Given the description of an element on the screen output the (x, y) to click on. 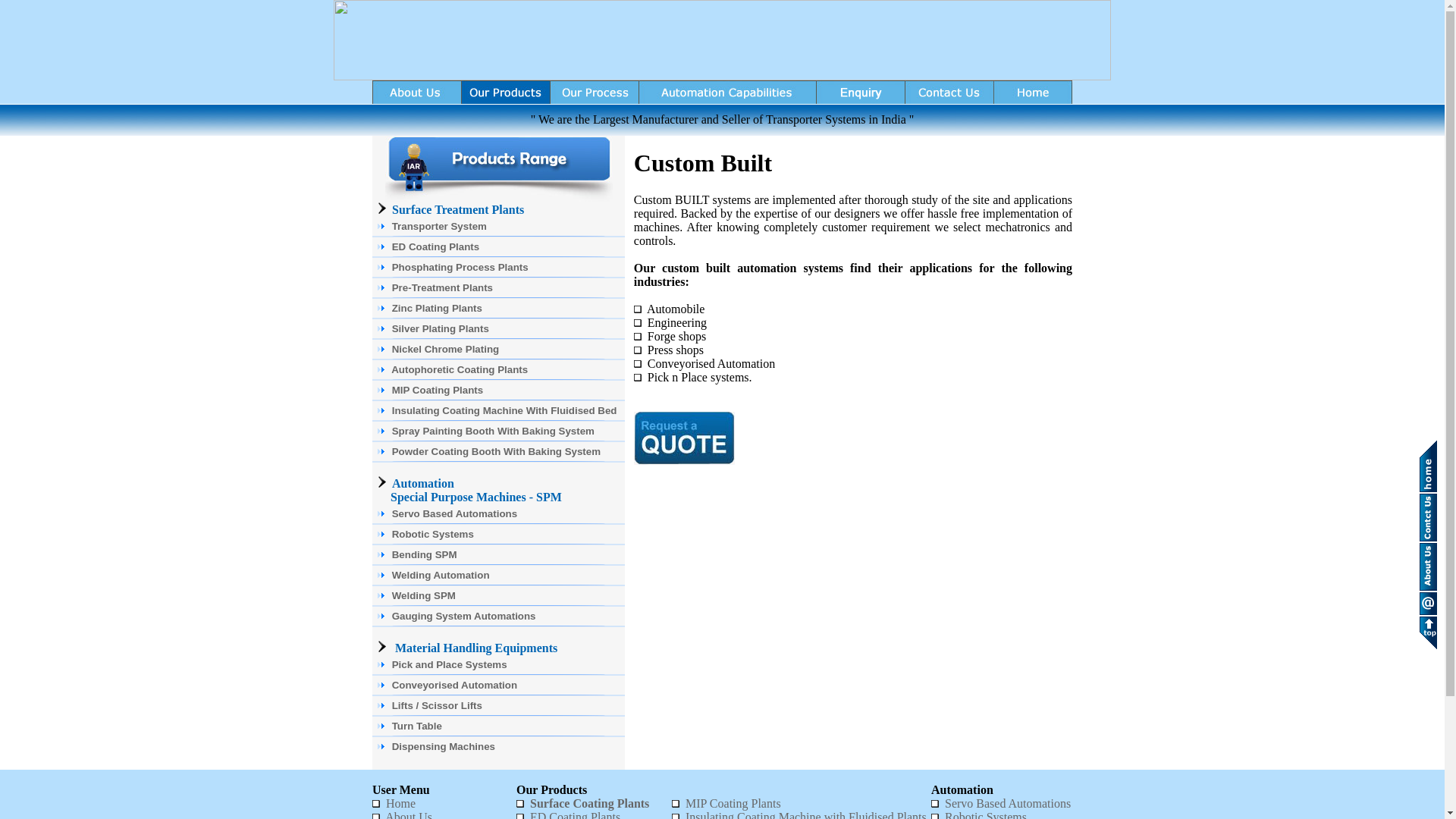
 Turn Table (498, 725)
Surface Treatment Plants (457, 209)
Home (399, 802)
About Us (408, 814)
 Zinc Plating Plants (498, 307)
 Autophoretic Coating Plants (498, 369)
 Robotic Systems (498, 533)
 Pick and Place Systems   (498, 664)
 Powder Coating Booth With Baking System   (498, 451)
Material Handling Equipments (475, 647)
 Nickel Chrome Plating (498, 348)
 Phosphating Process Plants (498, 266)
Automation (422, 482)
 Bending SPM (498, 554)
 Spray Painting Booth With Baking System   (498, 430)
